Given the description of an element on the screen output the (x, y) to click on. 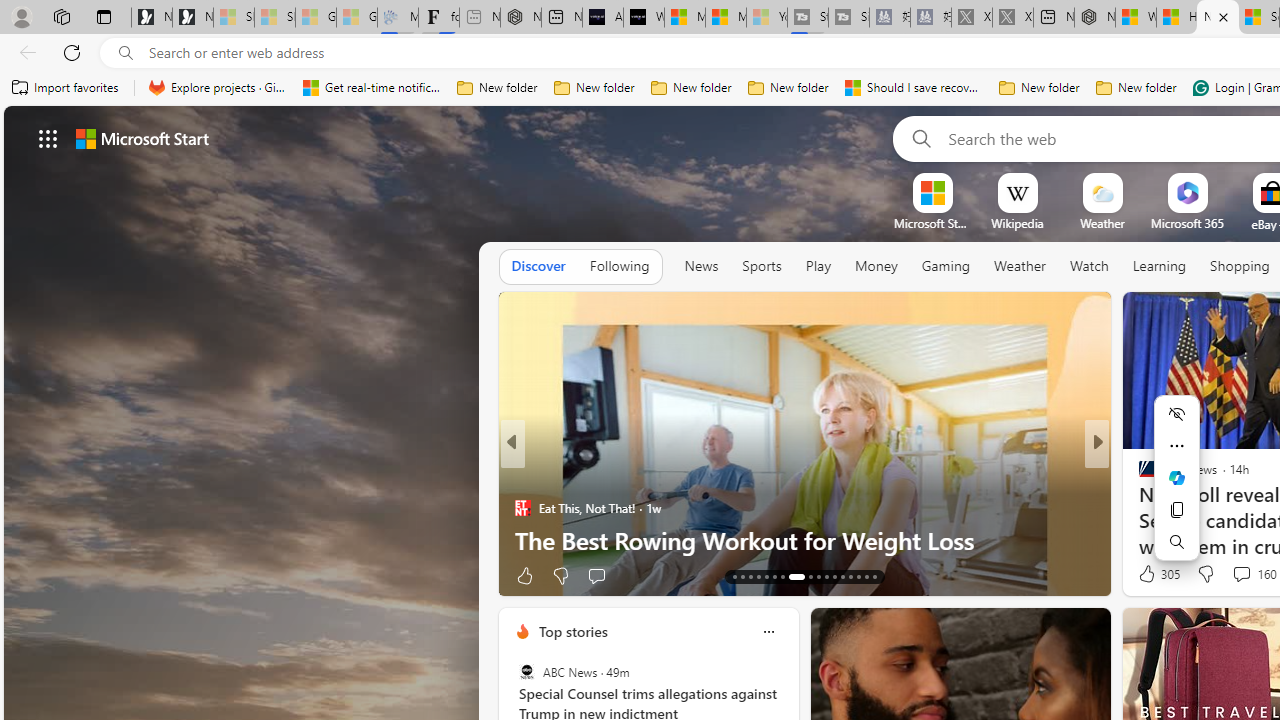
Search (917, 138)
View comments 5 Comment (1229, 575)
Class: icon-img (768, 632)
Newsweek (1138, 475)
Mini menu on text selection (1176, 478)
Play (817, 265)
AutomationID: tab-22 (818, 576)
ABC News (526, 672)
Watch (1089, 265)
News (701, 265)
Huge shark washes ashore at New York City beach | Watch (1176, 17)
News (701, 267)
AutomationID: waffle (47, 138)
AutomationID: tab-14 (742, 576)
